Given the description of an element on the screen output the (x, y) to click on. 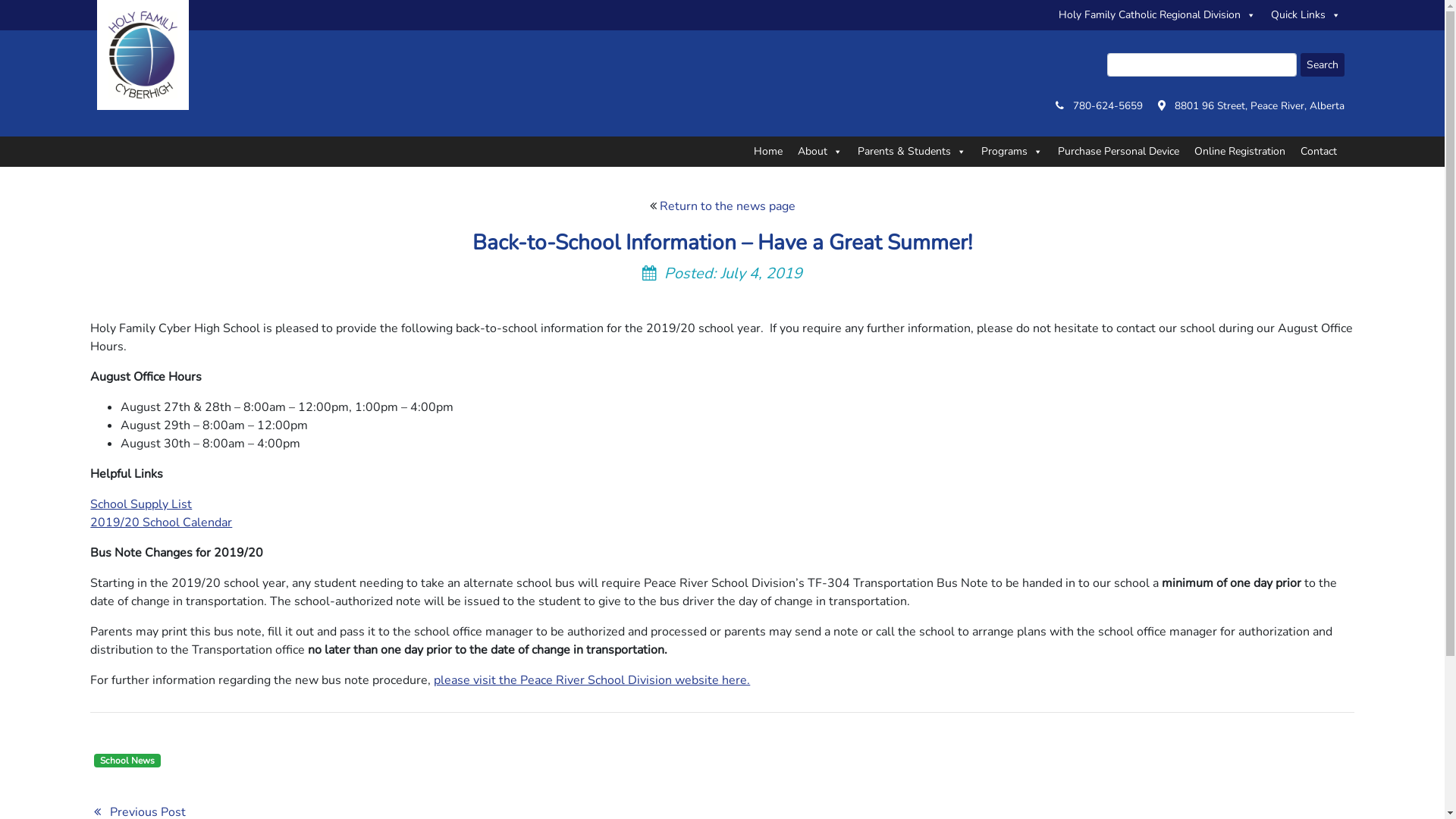
Contact Element type: text (1317, 151)
About Element type: text (820, 151)
Parents & Students Element type: text (910, 151)
please visit the Peace River School Division website here. Element type: text (591, 679)
8801 96 Street, Peace River, Alberta Element type: text (1258, 105)
2019/20 School Calendar Element type: text (161, 522)
Online Registration Element type: text (1239, 151)
Return to the news page Element type: text (727, 205)
Purchase Personal Device Element type: text (1117, 151)
Search Element type: text (1321, 64)
Programs Element type: text (1011, 151)
Quick Links Element type: text (1305, 15)
School News Element type: text (126, 760)
Holy Family Catholic Regional Division Element type: text (1157, 15)
Home Element type: text (768, 151)
School Supply List Element type: text (140, 503)
